Given the description of an element on the screen output the (x, y) to click on. 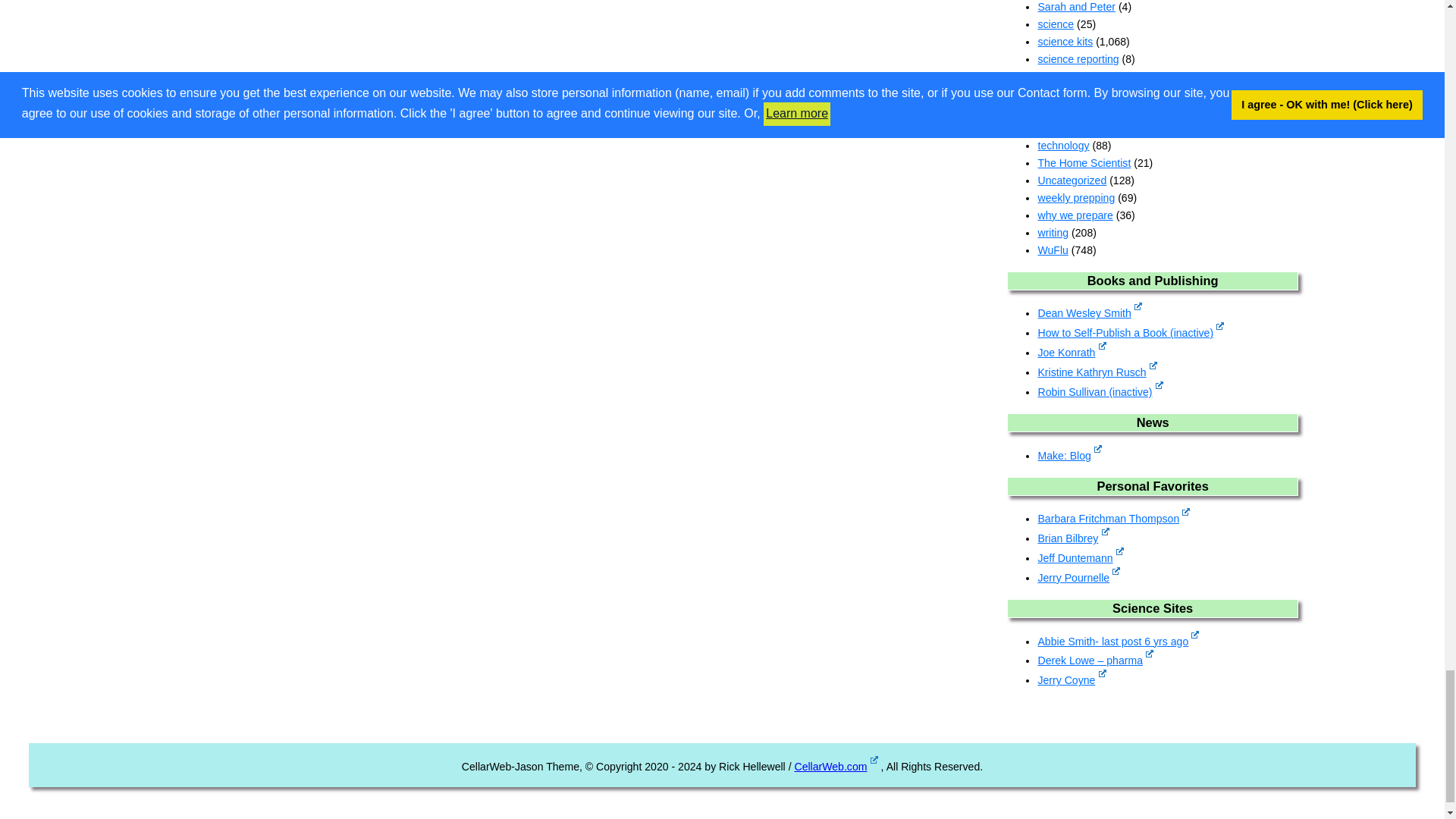
Writer site, comments about publishing industry (1070, 352)
CellarWeb.com (835, 766)
Personal blog (1072, 538)
commentary on drug discovery and the pharma industry (1094, 660)
Last updated 5 yrs ago (1130, 332)
